Given the description of an element on the screen output the (x, y) to click on. 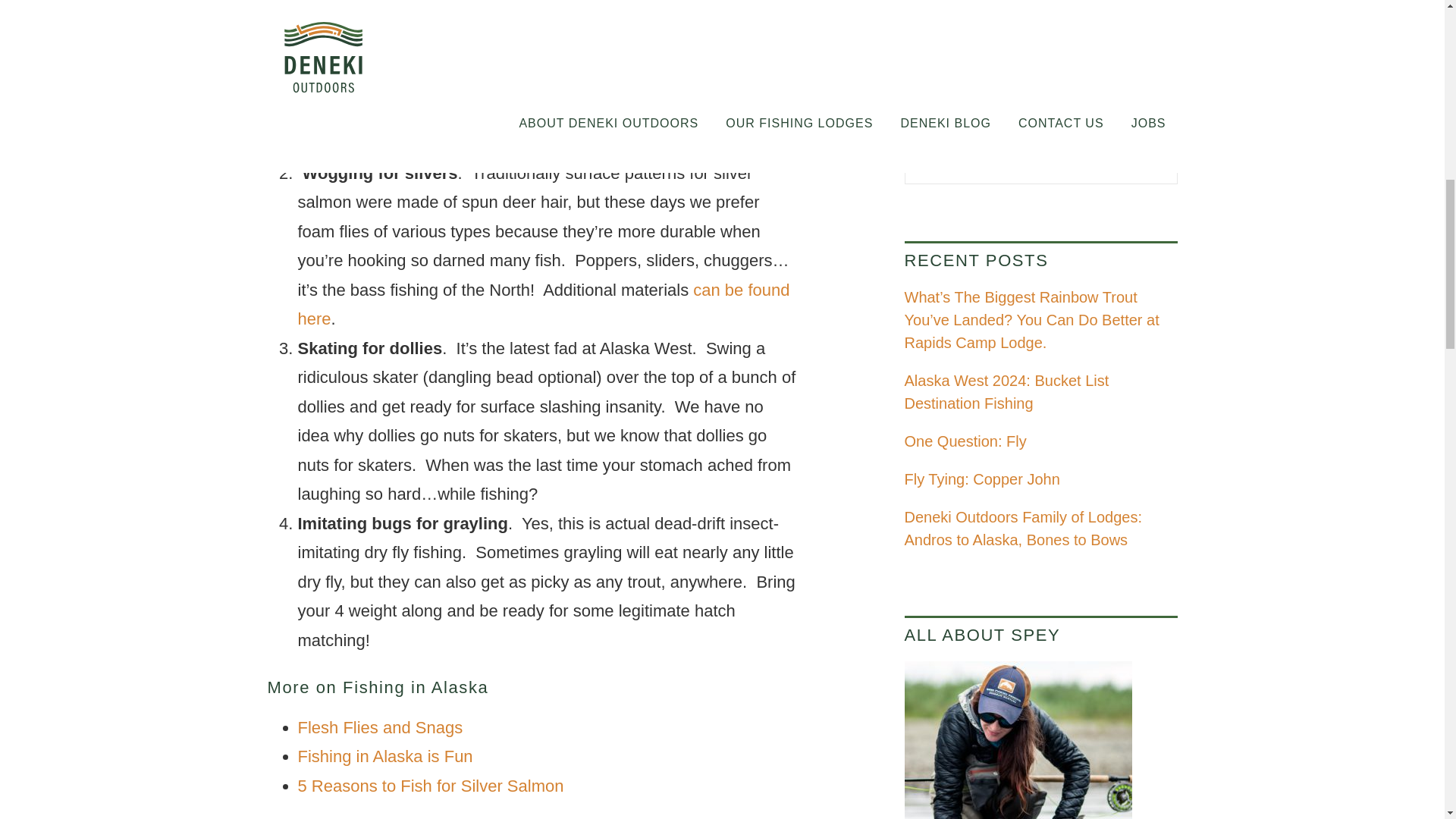
click here (591, 143)
Fishing in Alaska is Fun (384, 755)
5 Reasons to Fish for Silver Salmon (430, 785)
can be found here (543, 304)
Flesh Flies and Snags (380, 727)
